Given the description of an element on the screen output the (x, y) to click on. 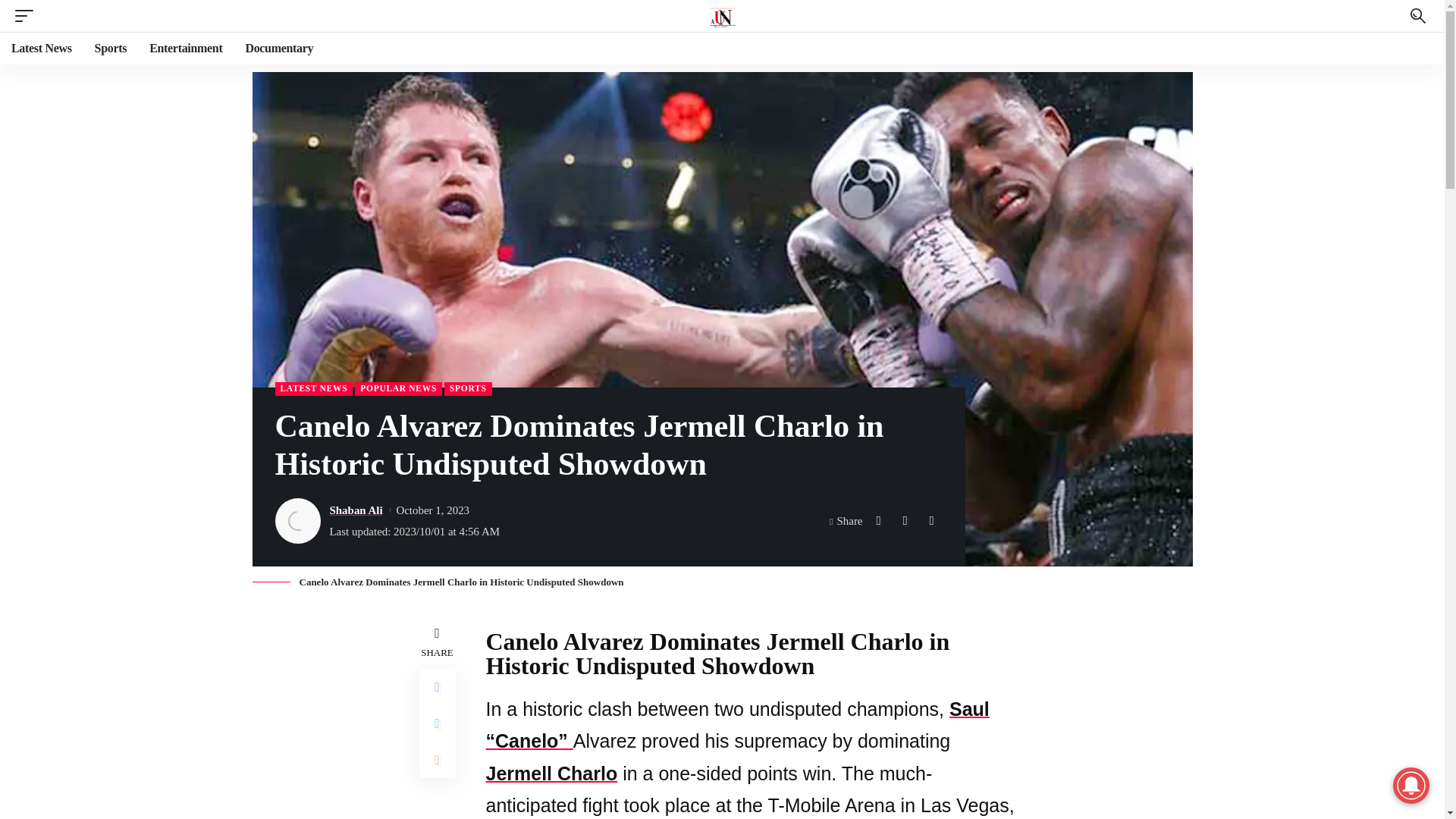
Shaban Ali (355, 510)
Documentary (278, 48)
All Updated News (721, 15)
POPULAR NEWS (398, 388)
SPORTS (468, 388)
Latest News (41, 48)
Jermell Charlo (550, 772)
Go to the Latest News Category archives. (379, 86)
Latest News (379, 86)
All Updated News (304, 86)
